Given the description of an element on the screen output the (x, y) to click on. 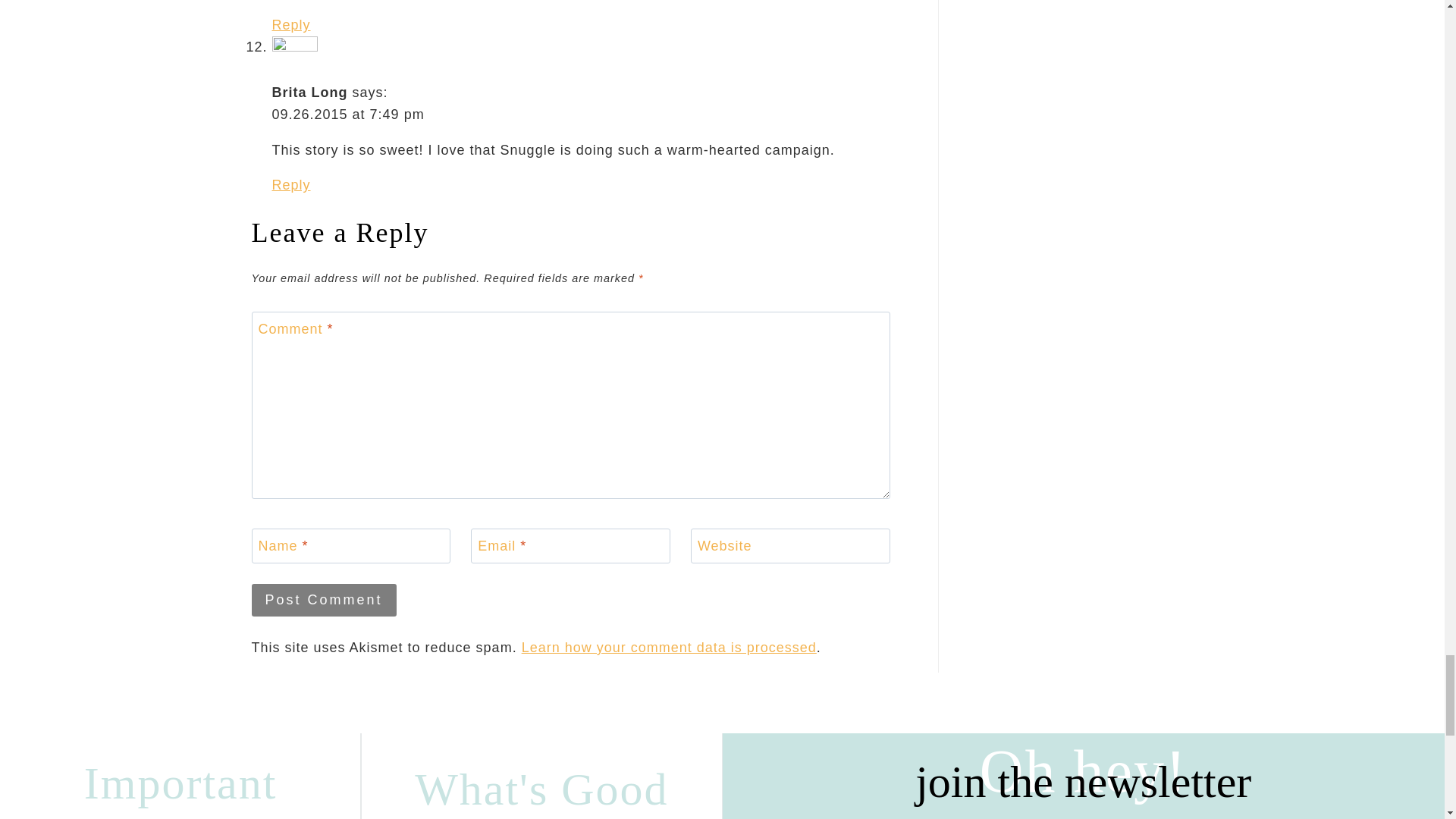
Post Comment (323, 599)
